Given the description of an element on the screen output the (x, y) to click on. 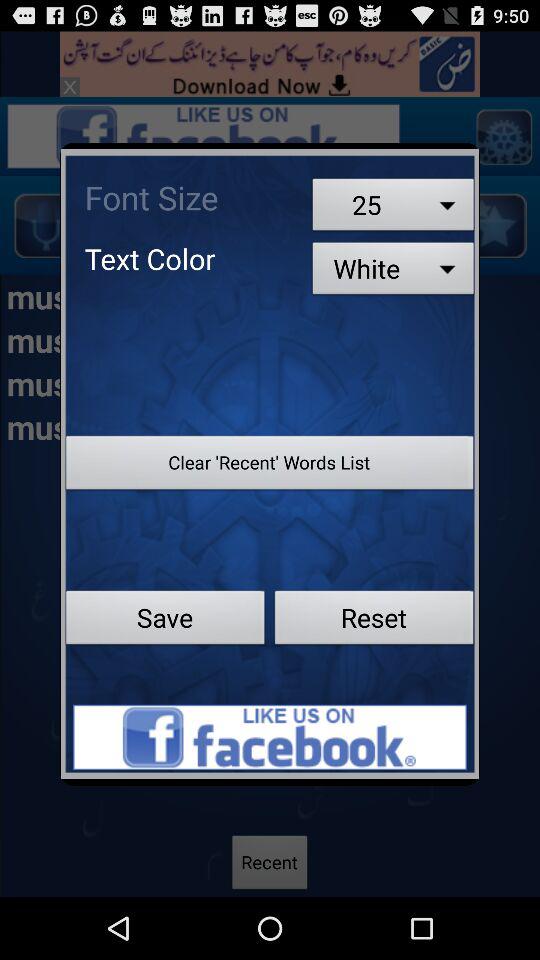
advertisement (269, 737)
